Given the description of an element on the screen output the (x, y) to click on. 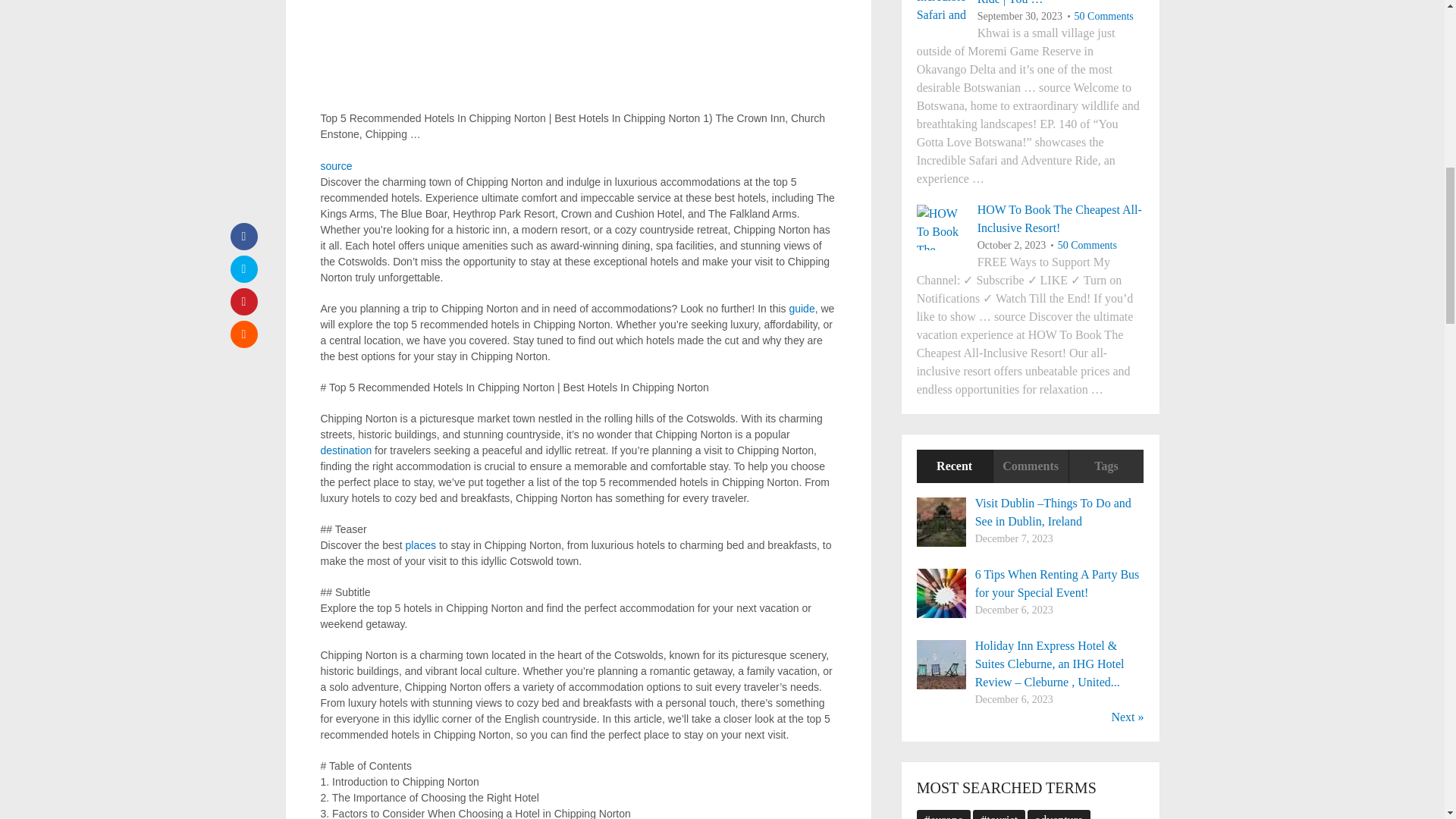
amazon kindle guides (345, 450)
amazon kindle guides (801, 308)
